Given the description of an element on the screen output the (x, y) to click on. 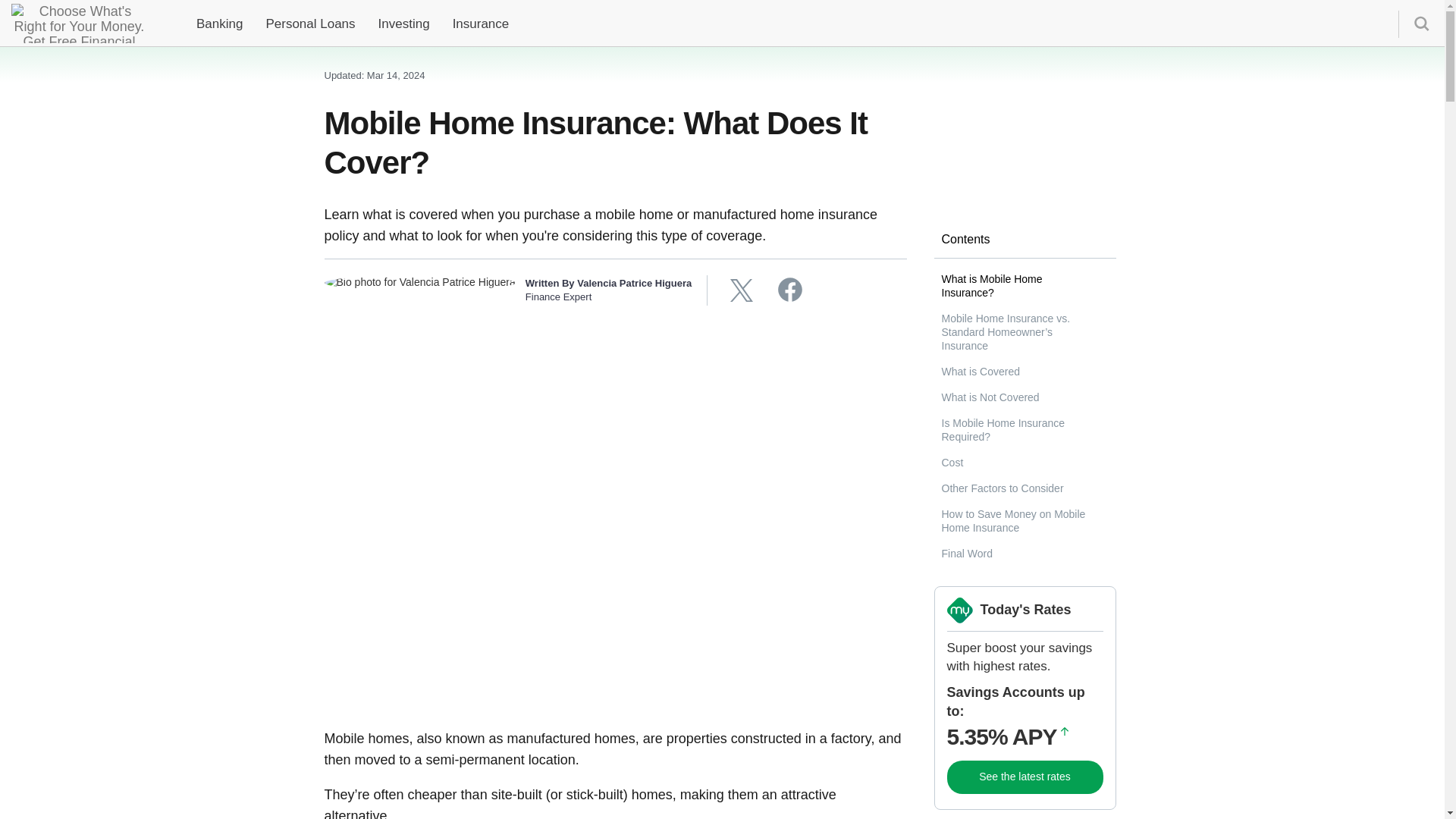
Home (73, 23)
